Given the description of an element on the screen output the (x, y) to click on. 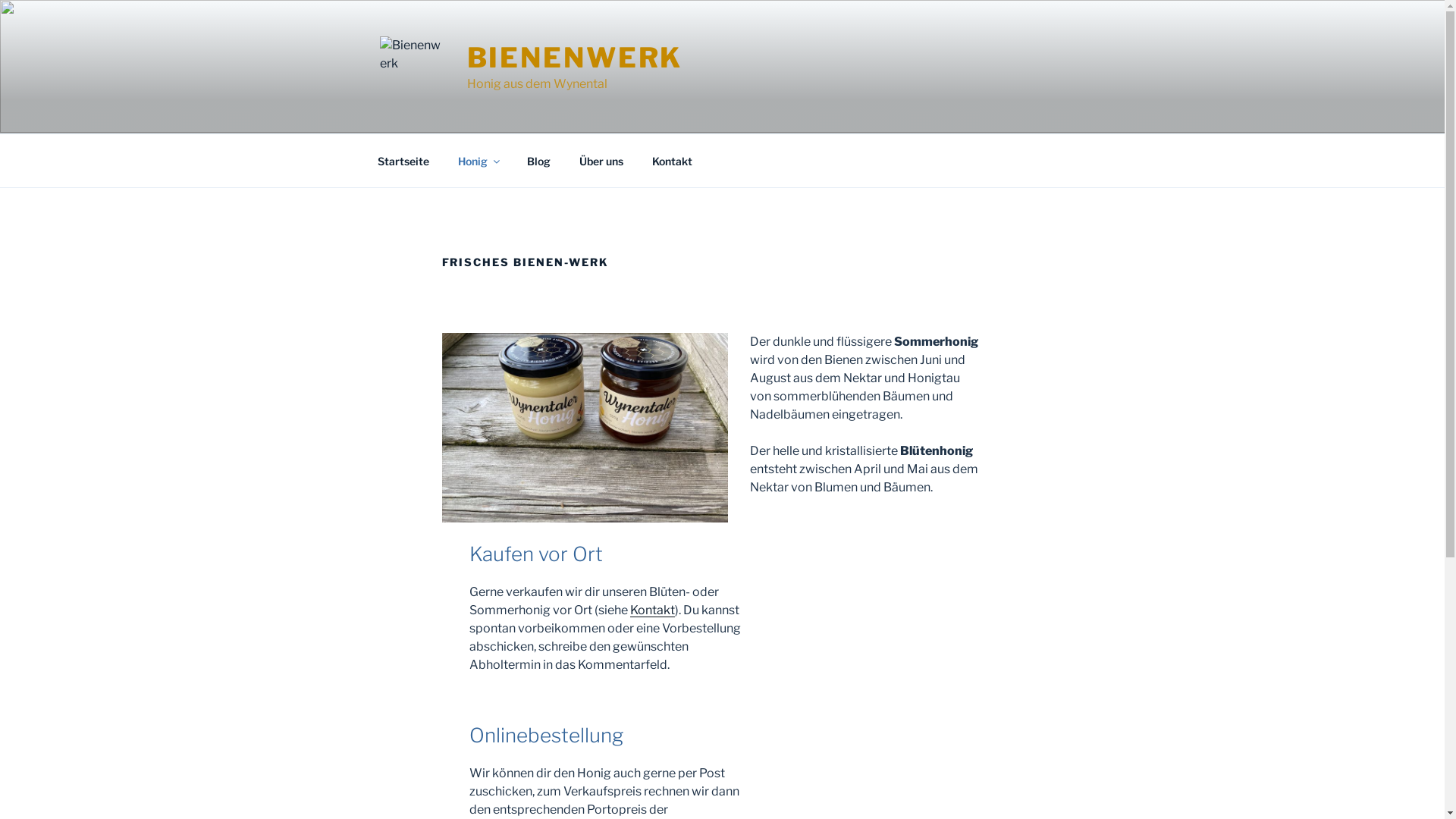
BIENENWERK Element type: text (575, 57)
Honig Element type: text (477, 160)
Blog Element type: text (539, 160)
Kontakt Element type: text (671, 160)
Kontakt Element type: text (652, 609)
Startseite Element type: text (403, 160)
